Given the description of an element on the screen output the (x, y) to click on. 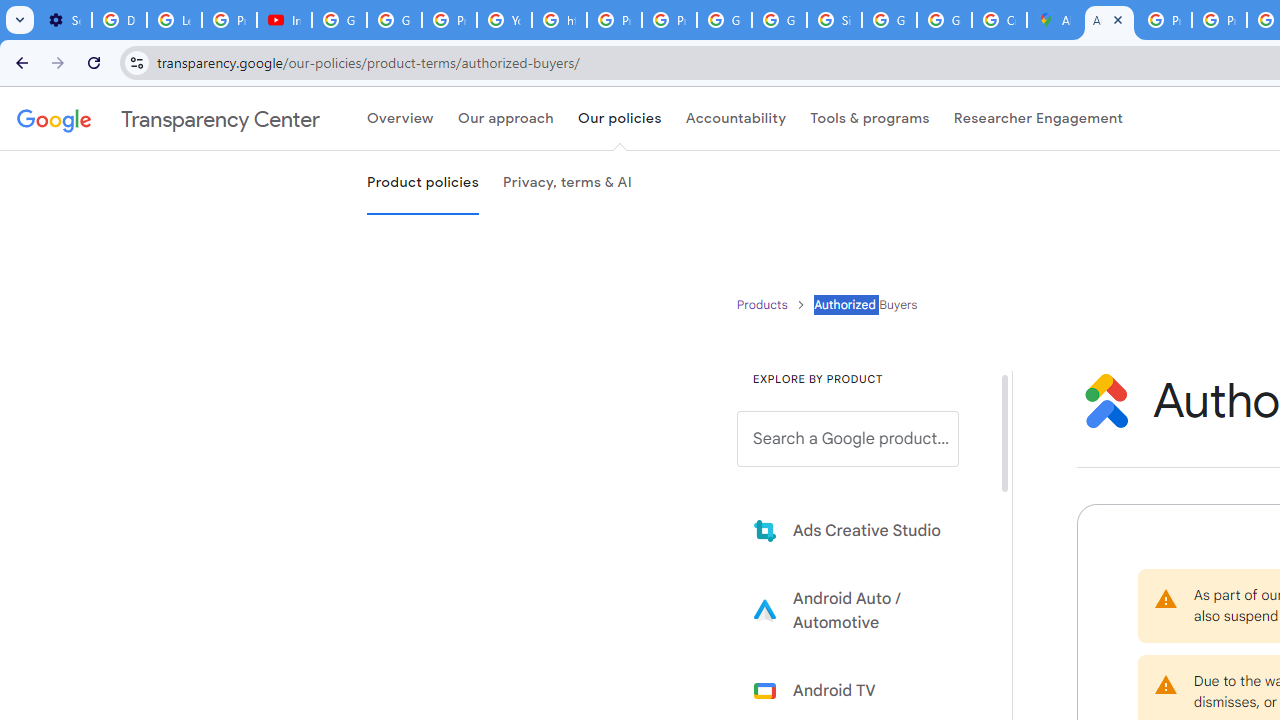
Our approach (505, 119)
Our policies (619, 119)
Learn more about Android Auto (862, 610)
https://scholar.google.com/ (559, 20)
Privacy Help Center - Policies Help (614, 20)
YouTube (504, 20)
Learn how to find your photos - Google Photos Help (174, 20)
Google Account Help (339, 20)
Settings - Performance (64, 20)
Privacy, terms & AI (567, 183)
